Given the description of an element on the screen output the (x, y) to click on. 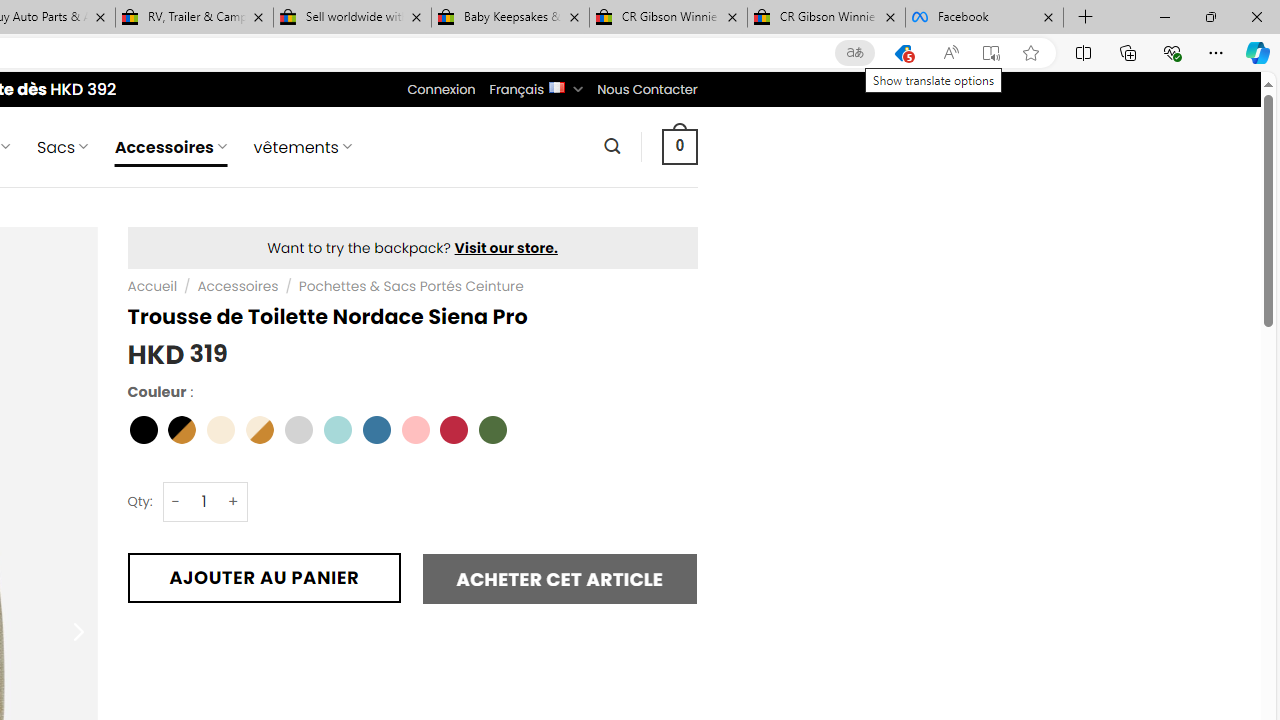
Baby Keepsakes & Announcements for sale | eBay (509, 17)
Connexion (441, 89)
Connexion (441, 89)
+ (234, 501)
Nous Contacter (646, 89)
  0   (679, 146)
Enter Immersive Reader (F9) (991, 53)
